Given the description of an element on the screen output the (x, y) to click on. 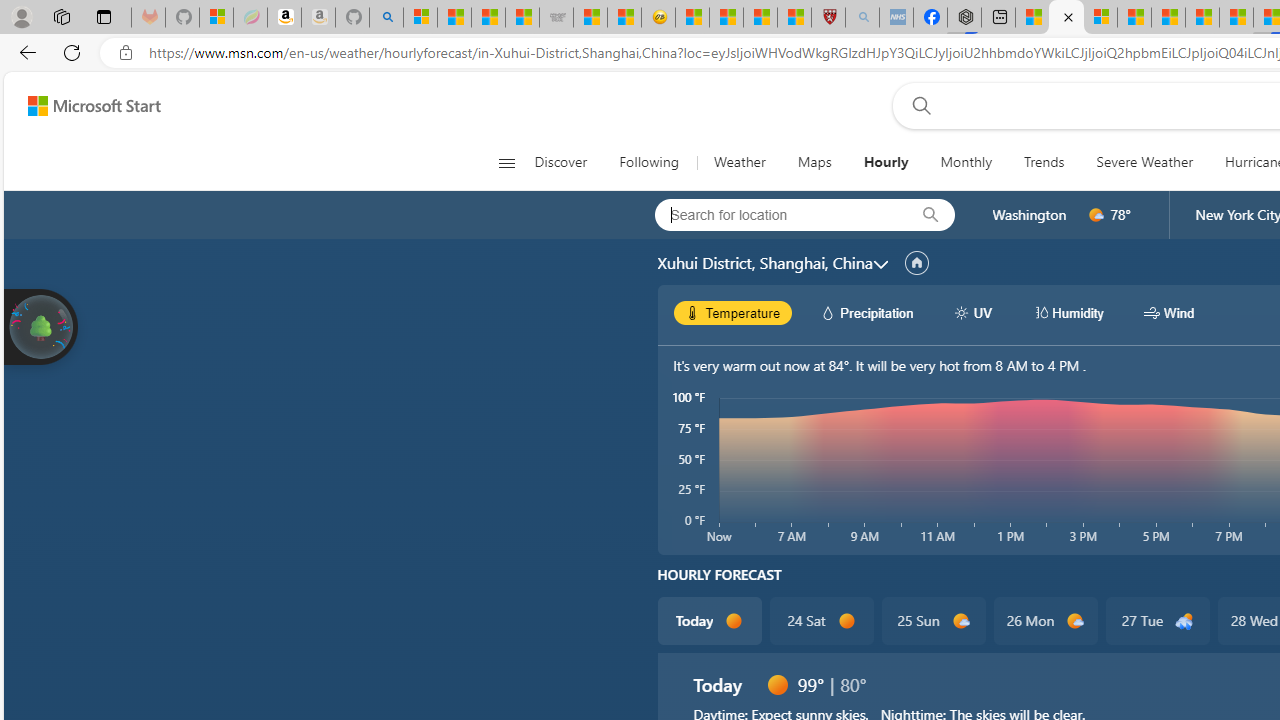
hourlyChart/humidityWhite (1040, 312)
Trends (1044, 162)
hourlyChart/windWhite (1152, 312)
locationBar/search (930, 215)
hourlyChart/temperatureBlack (692, 312)
Maps (813, 162)
Join us in planting real trees to help our planet! (40, 325)
Hourly (886, 162)
Maps (814, 162)
locationName/setHomeLocation (916, 263)
